Given the description of an element on the screen output the (x, y) to click on. 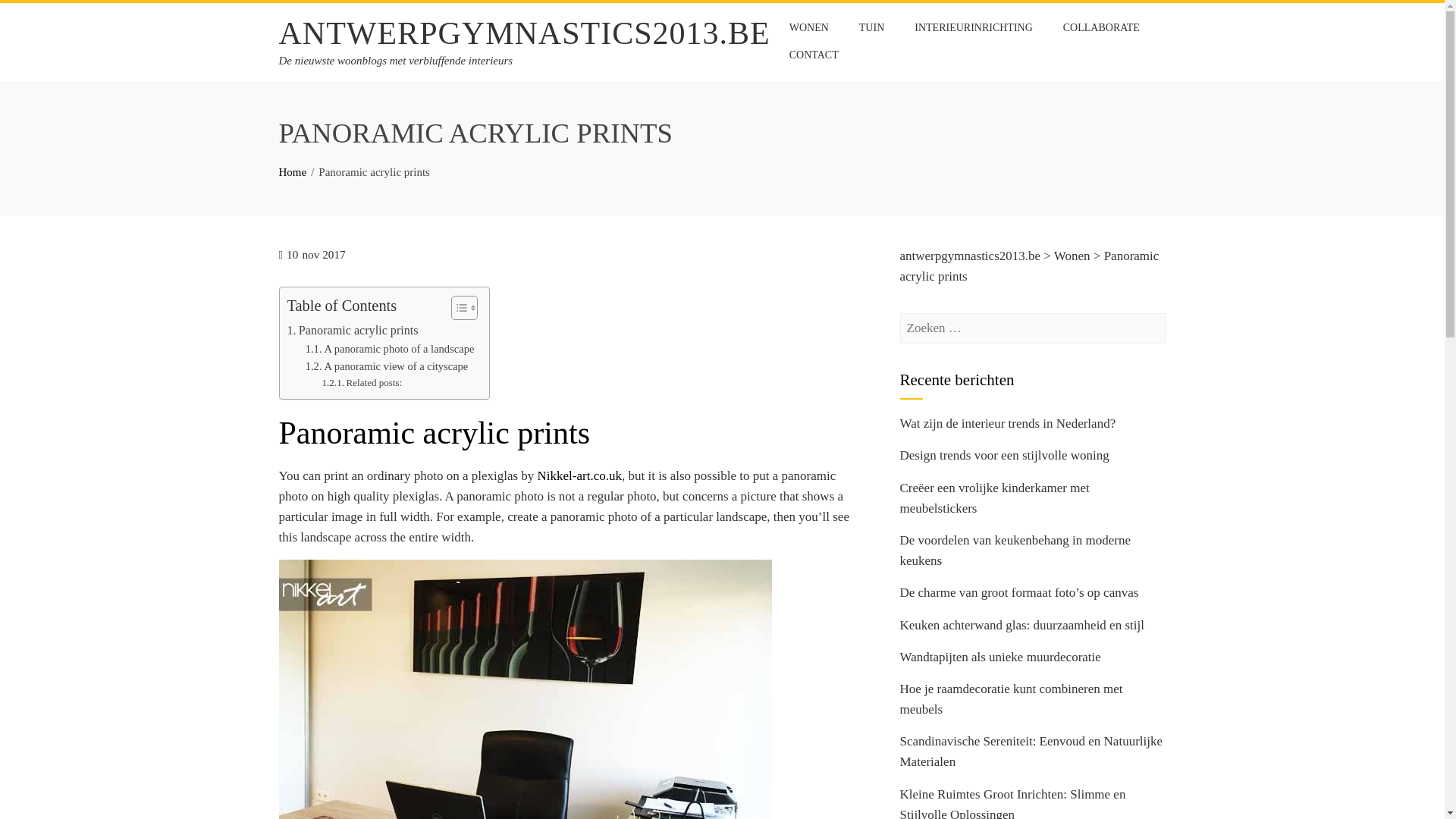
Panoramic acrylic prints (351, 330)
antwerpgymnastics2013.be (970, 255)
COLLABORATE (1101, 27)
De voordelen van keukenbehang in moderne keukens (1014, 550)
Wat zijn de interieur trends in Nederland? (1007, 423)
Wandtapijten als unieke muurdecoratie (999, 657)
A panoramic photo of a landscape (389, 348)
Related posts: (362, 383)
Wonen (1072, 255)
Zoeken (34, 15)
Home (293, 172)
TUIN (871, 27)
CONTACT (813, 54)
Panoramic acrylic prints (351, 330)
Keuken achterwand glas: duurzaamheid en stijl (1020, 625)
